Given the description of an element on the screen output the (x, y) to click on. 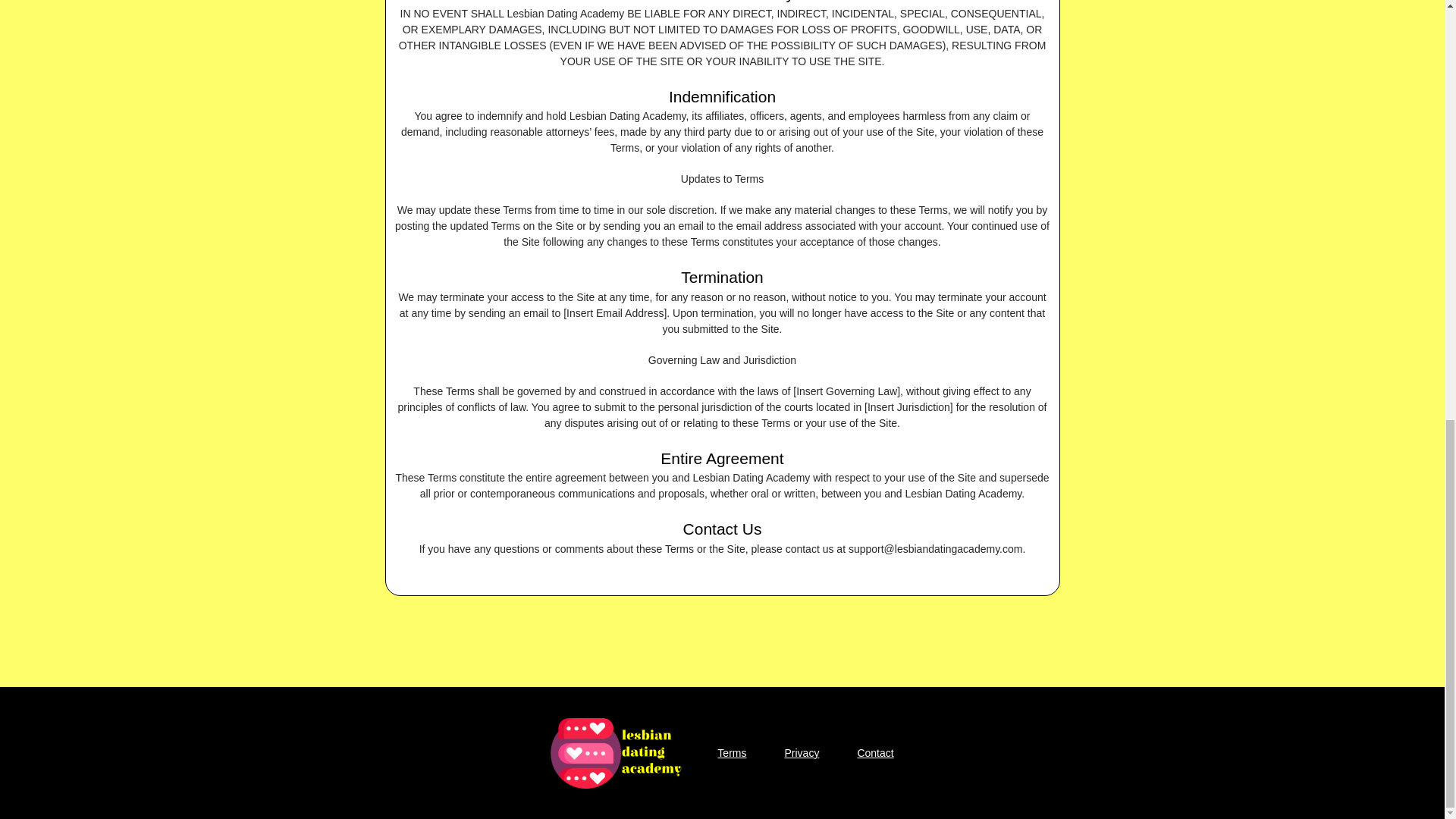
Terms (731, 753)
Contact (875, 753)
Privacy (801, 753)
